Given the description of an element on the screen output the (x, y) to click on. 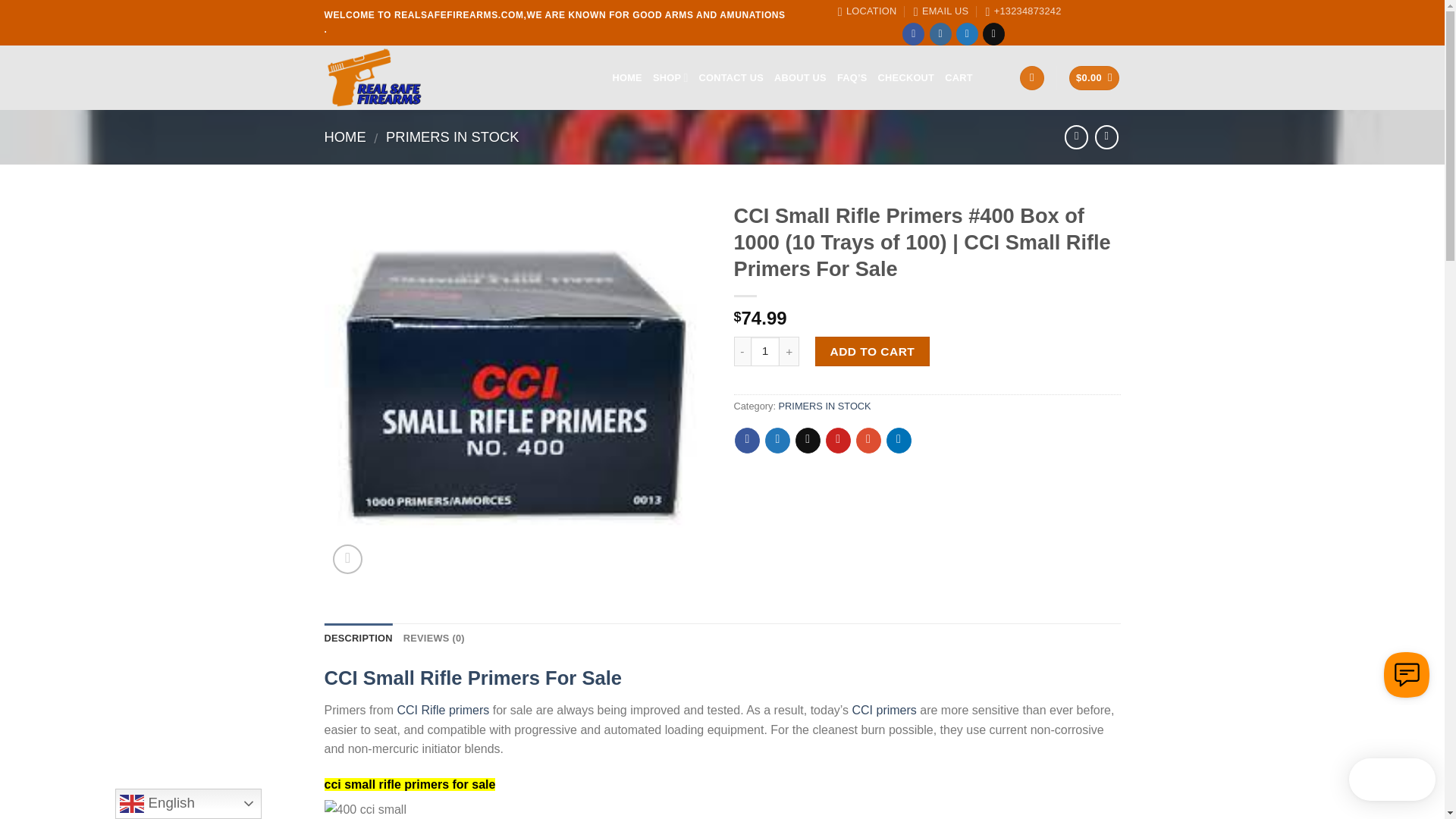
HOME (345, 136)
CONTACT US (731, 78)
EMAIL US (941, 11)
PRIMERS IN STOCK (451, 136)
Cart (1093, 78)
1 (765, 351)
LOCATION (867, 11)
ABOUT US (800, 78)
HOME (627, 78)
CART (958, 78)
Qty (765, 351)
CHECKOUT (905, 78)
SHOP (670, 78)
